Given the description of an element on the screen output the (x, y) to click on. 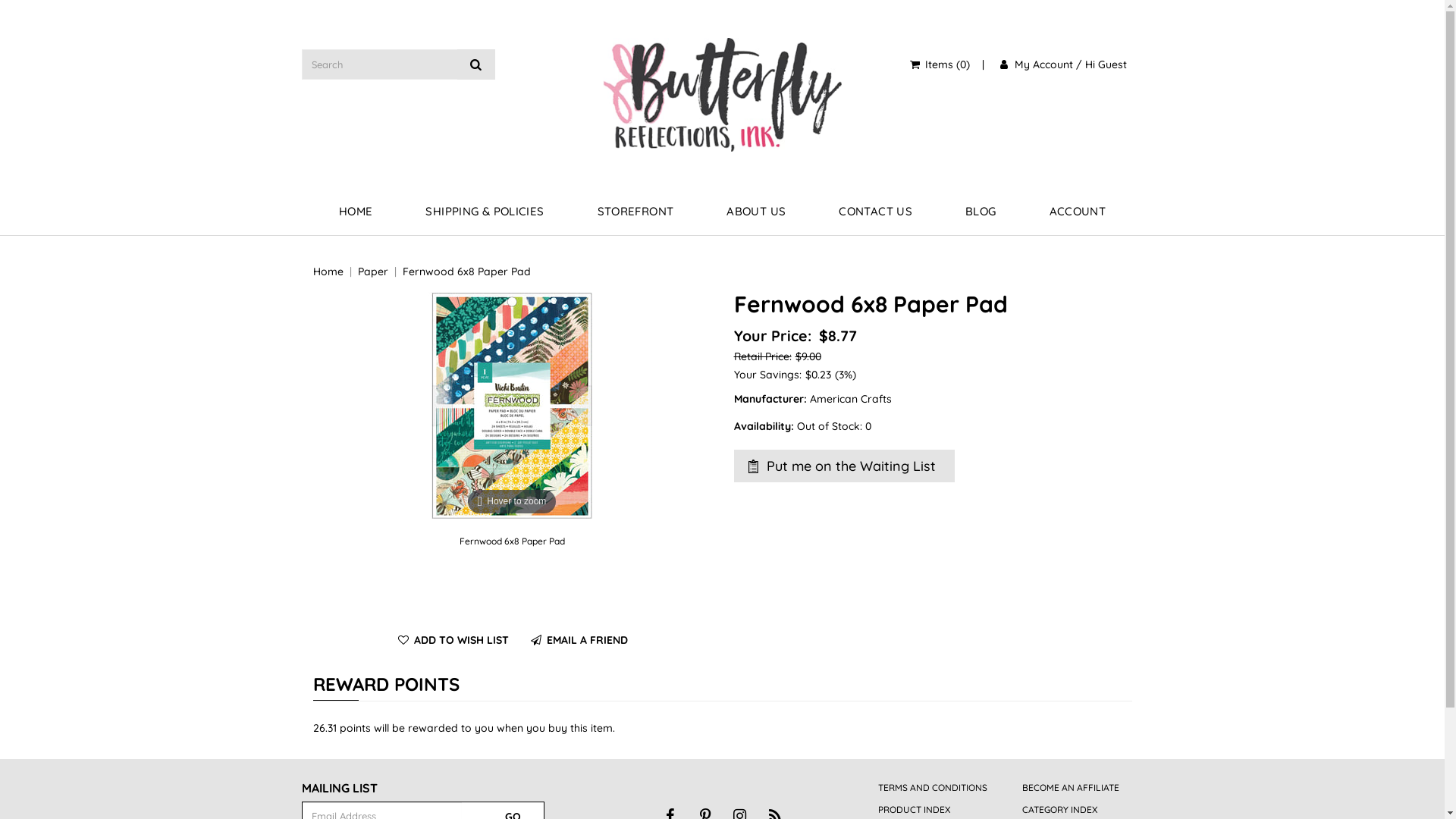
Items (0) Element type: text (937, 64)
Paper Element type: text (372, 271)
STOREFRONT Element type: text (634, 212)
BLOG Element type: text (980, 212)
Fernwood 6x8 Paper Pad Element type: text (465, 271)
ADD TO WISH LIST Element type: text (452, 639)
HOME Element type: text (355, 212)
Home Element type: text (327, 271)
Put me on the Waiting List Element type: text (844, 466)
CONTACT US Element type: text (875, 212)
TERMS AND CONDITIONS Element type: text (932, 787)
Hover to zoom Element type: text (511, 404)
ACCOUNT Element type: text (1077, 212)
My Account / Hi Guest Element type: text (1061, 64)
BECOME AN AFFILIATE Element type: text (1070, 787)
CATEGORY INDEX Element type: text (1059, 809)
EMAIL A FRIEND Element type: text (577, 639)
PRODUCT INDEX Element type: text (914, 809)
ABOUT US Element type: text (756, 212)
SHIPPING & POLICIES Element type: text (484, 212)
